Given the description of an element on the screen output the (x, y) to click on. 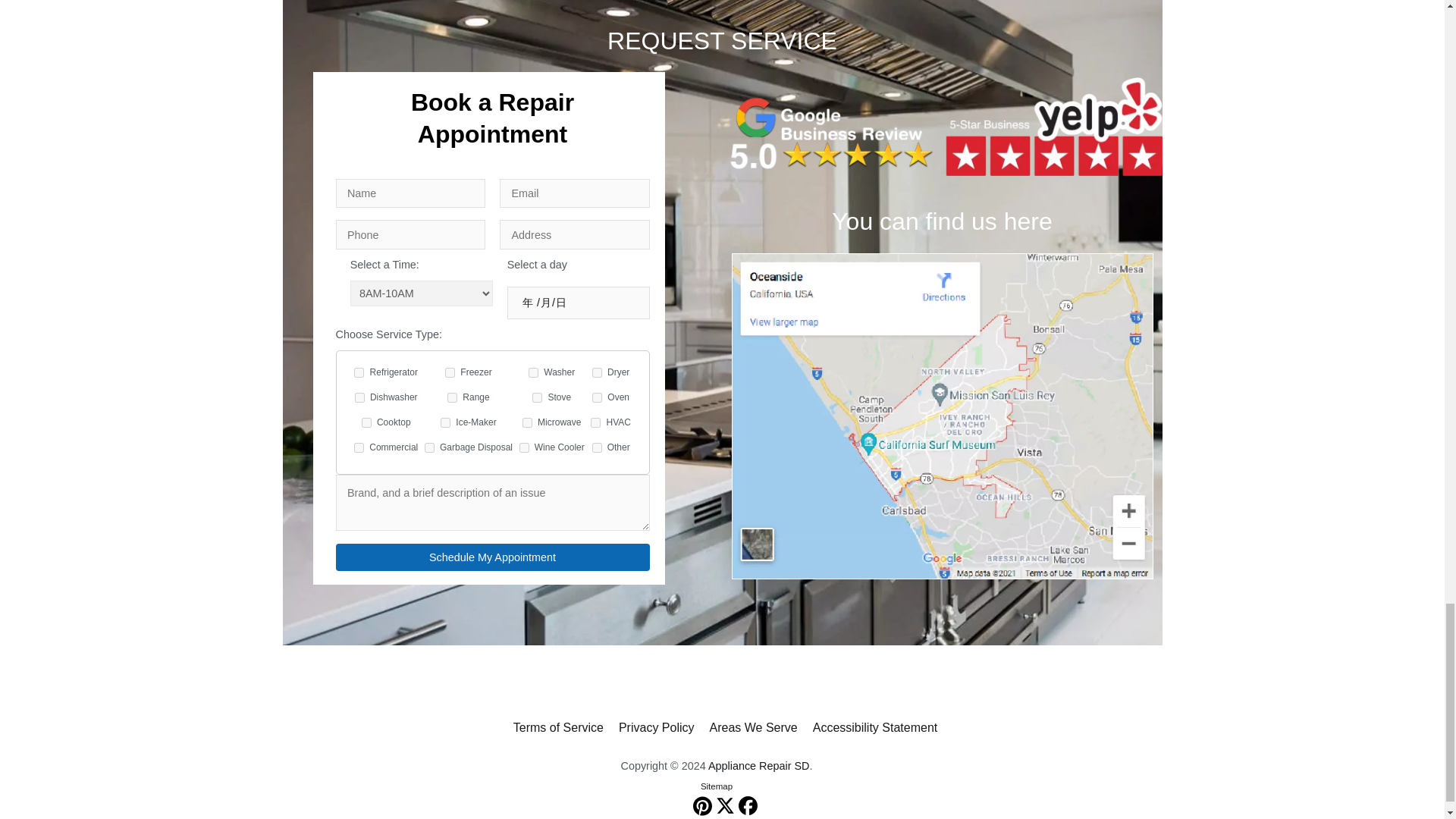
Appliance Repair SD (758, 766)
Washer (533, 372)
HVAC (595, 422)
Oven (597, 397)
Refrigerator (358, 372)
Garbage Disposal (429, 447)
Wine Cooler (524, 447)
Dishwasher (360, 397)
Commercial (358, 447)
Freezer (449, 372)
